Given the description of an element on the screen output the (x, y) to click on. 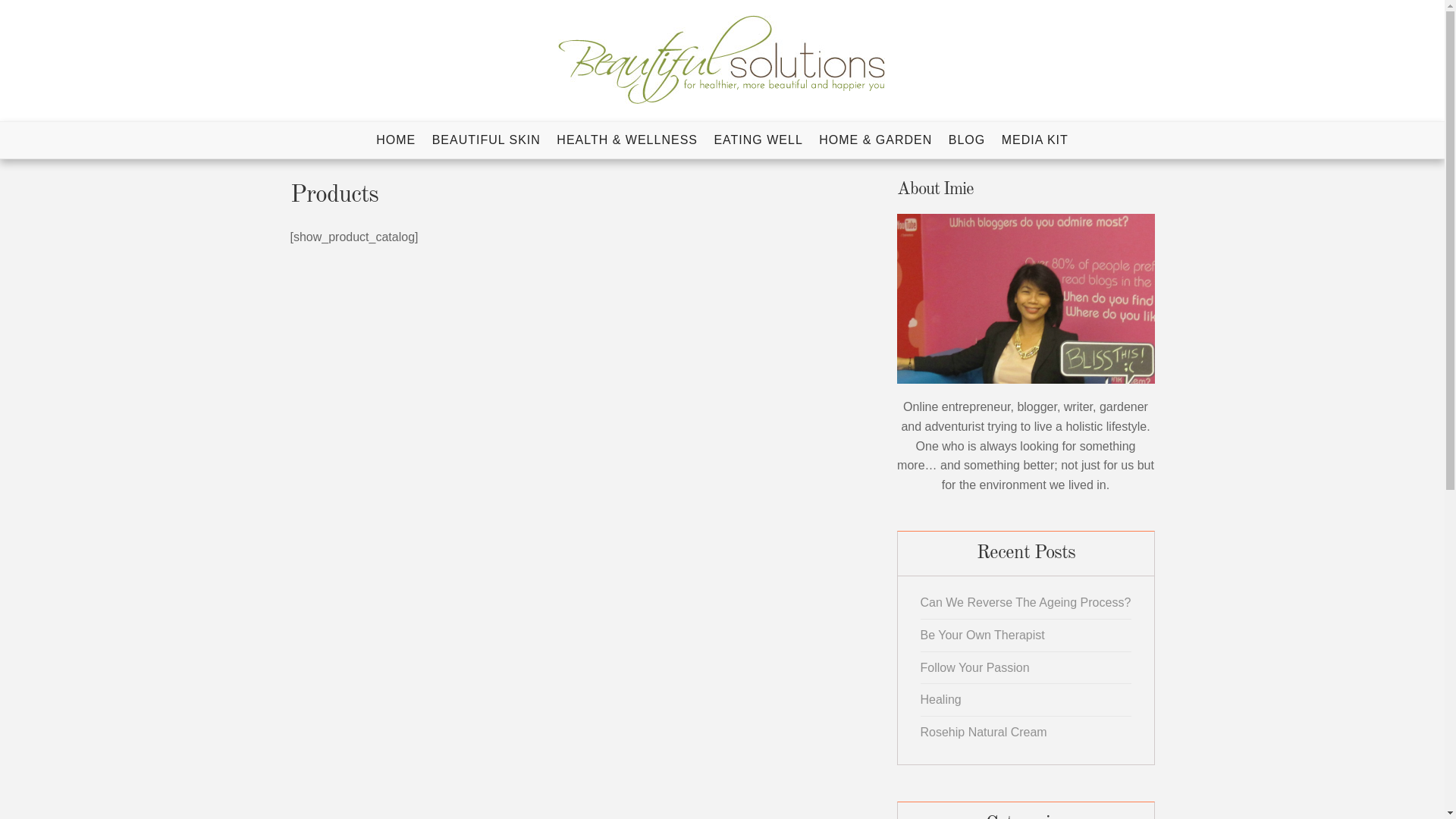
Be Your Own Therapist Element type: text (982, 634)
Search Element type: text (14, 38)
HOME Element type: text (395, 140)
HOME & GARDEN Element type: text (875, 140)
Follow Your Passion Element type: text (974, 667)
HEALTH & WELLNESS Element type: text (626, 140)
Can We Reverse The Ageing Process? Element type: text (1025, 602)
BEAUTIFUL SKIN Element type: text (486, 140)
Healing Element type: text (940, 699)
EATING WELL Element type: text (757, 140)
MEDIA KIT Element type: text (1034, 140)
BLOG Element type: text (966, 140)
BeautifulSolutions.ca Element type: text (265, 142)
Rosehip Natural Cream Element type: text (983, 731)
